Given the description of an element on the screen output the (x, y) to click on. 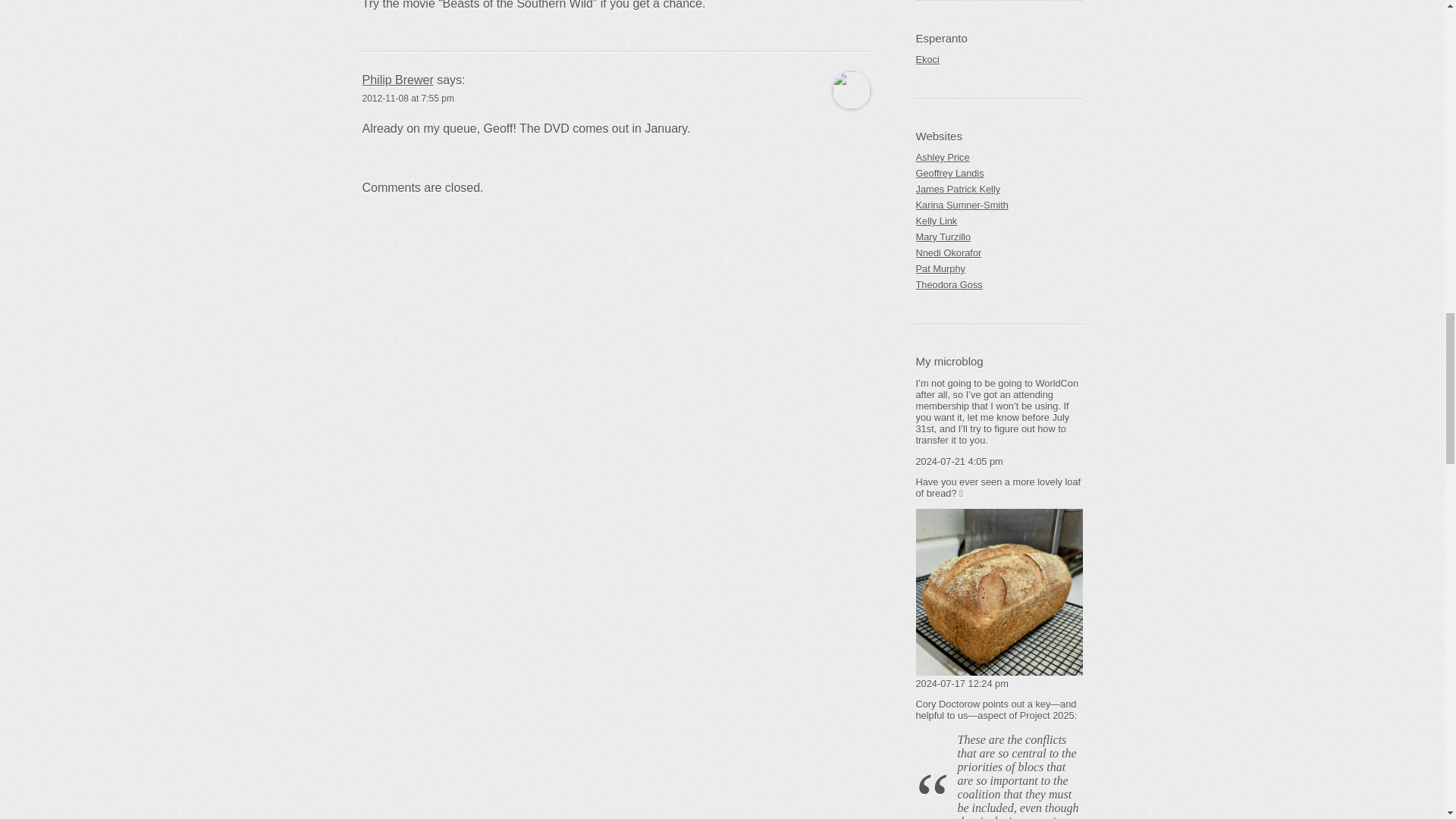
2012-11-08 at 7:55 pm (408, 98)
Philip Brewer (397, 79)
